Given the description of an element on the screen output the (x, y) to click on. 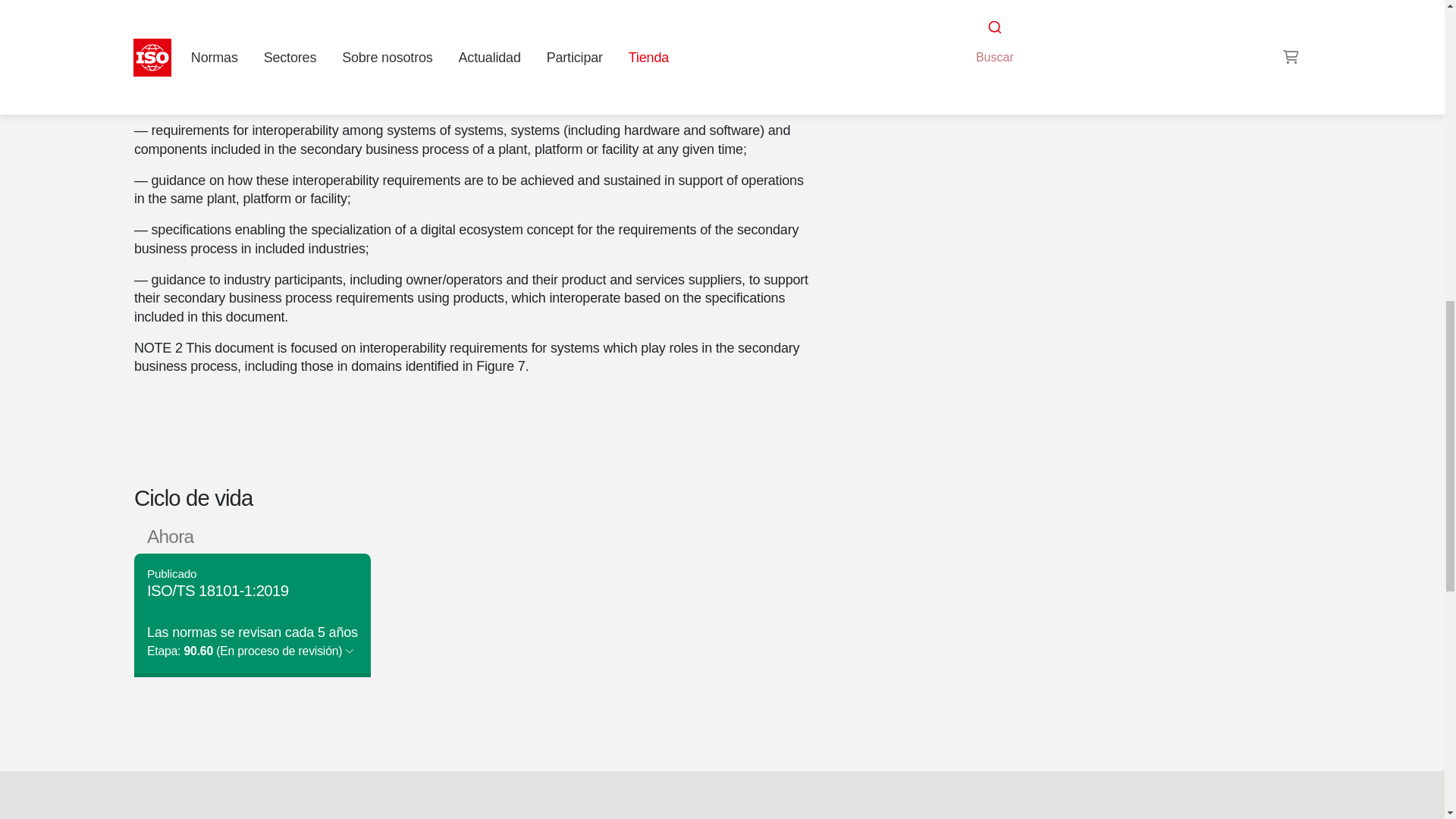
Industrial process measurement and control (1045, 40)
75.020 (988, 40)
Extraction and processing of petroleum and natural gas (988, 40)
25.040.40 (1045, 40)
Automation systems and integration (1073, 22)
